Given the description of an element on the screen output the (x, y) to click on. 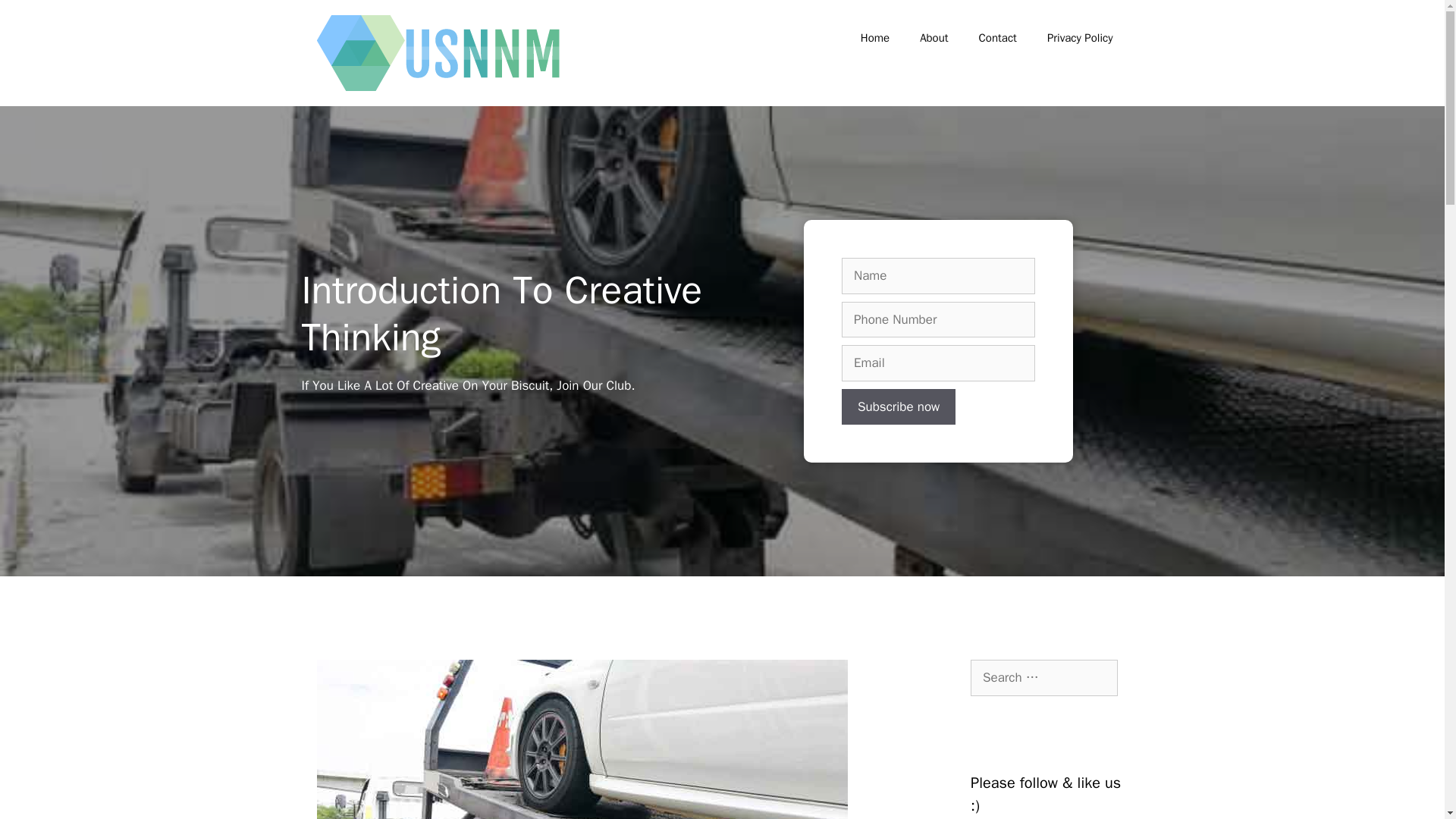
About (933, 37)
Subscribe now (898, 406)
Search for: (1044, 678)
Home (874, 37)
Search (35, 18)
Privacy Policy (1080, 37)
Contact (997, 37)
